Given the description of an element on the screen output the (x, y) to click on. 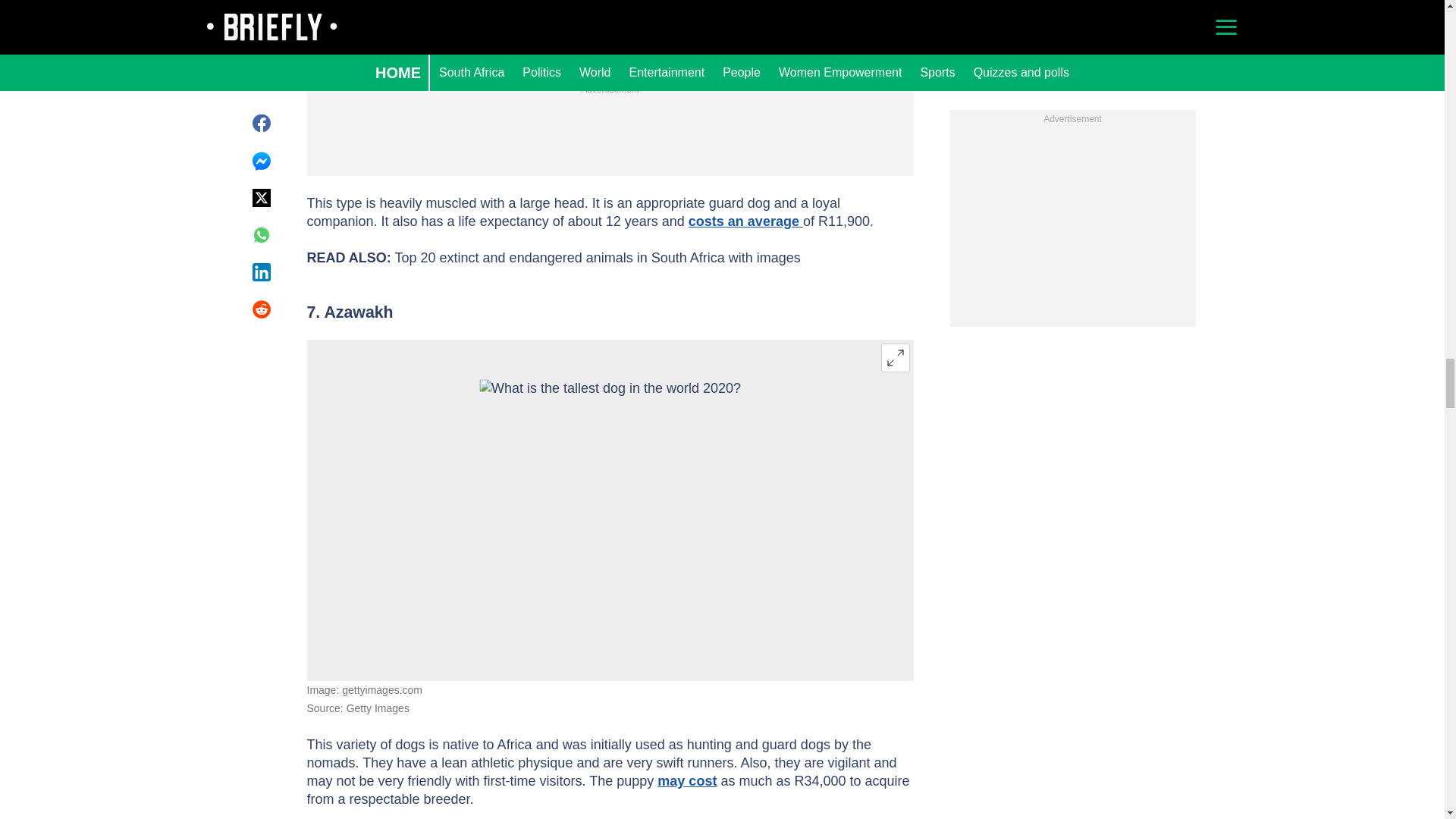
What is the tallest dog in the world 2020? (610, 509)
Expand image (895, 357)
